Given the description of an element on the screen output the (x, y) to click on. 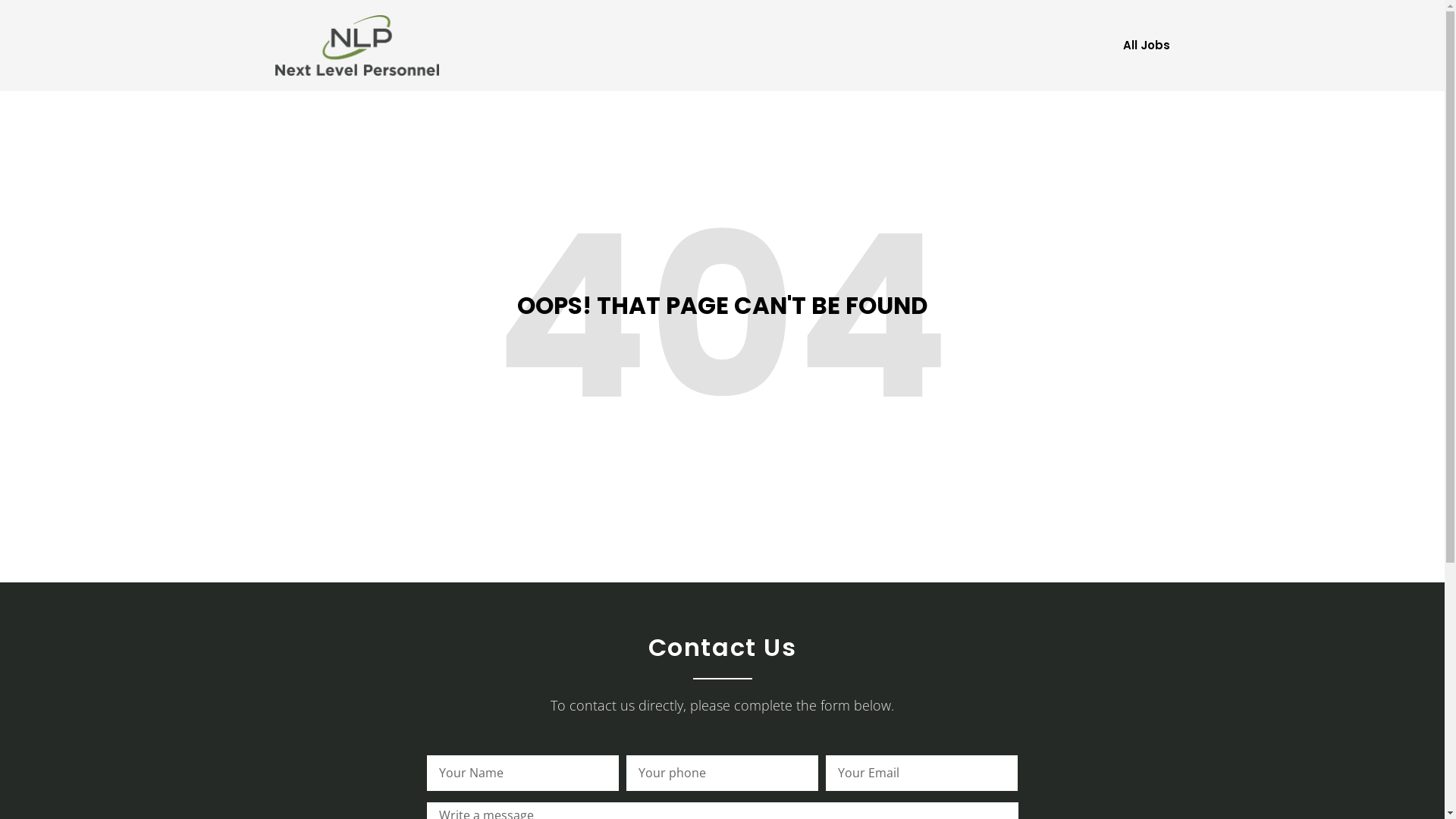
All Jobs Element type: text (1145, 45)
logo-RVB Element type: hover (356, 45)
